Given the description of an element on the screen output the (x, y) to click on. 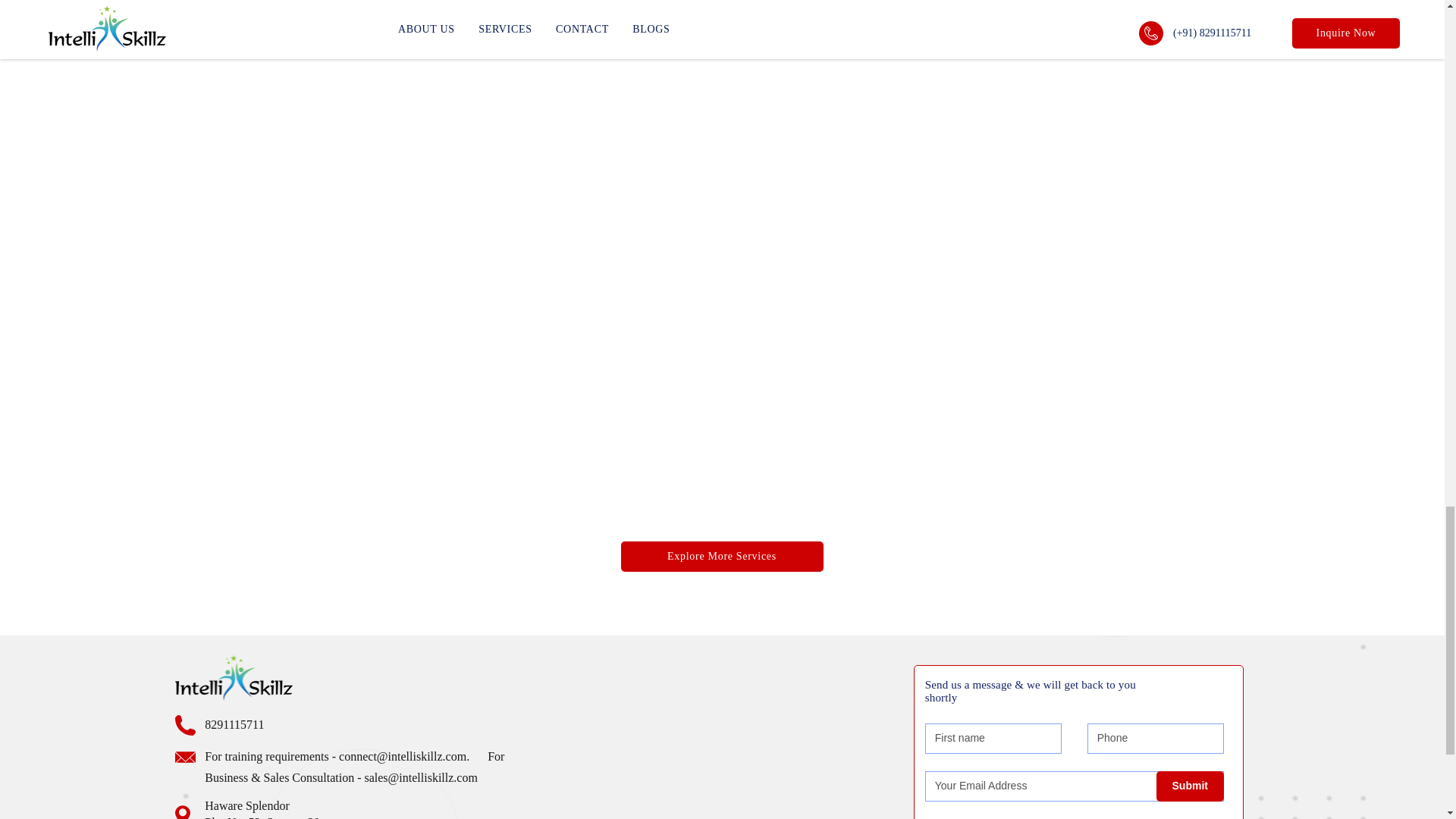
Explore More Services (721, 556)
Submit (1190, 786)
IntelliSkillz.png (233, 678)
